Given the description of an element on the screen output the (x, y) to click on. 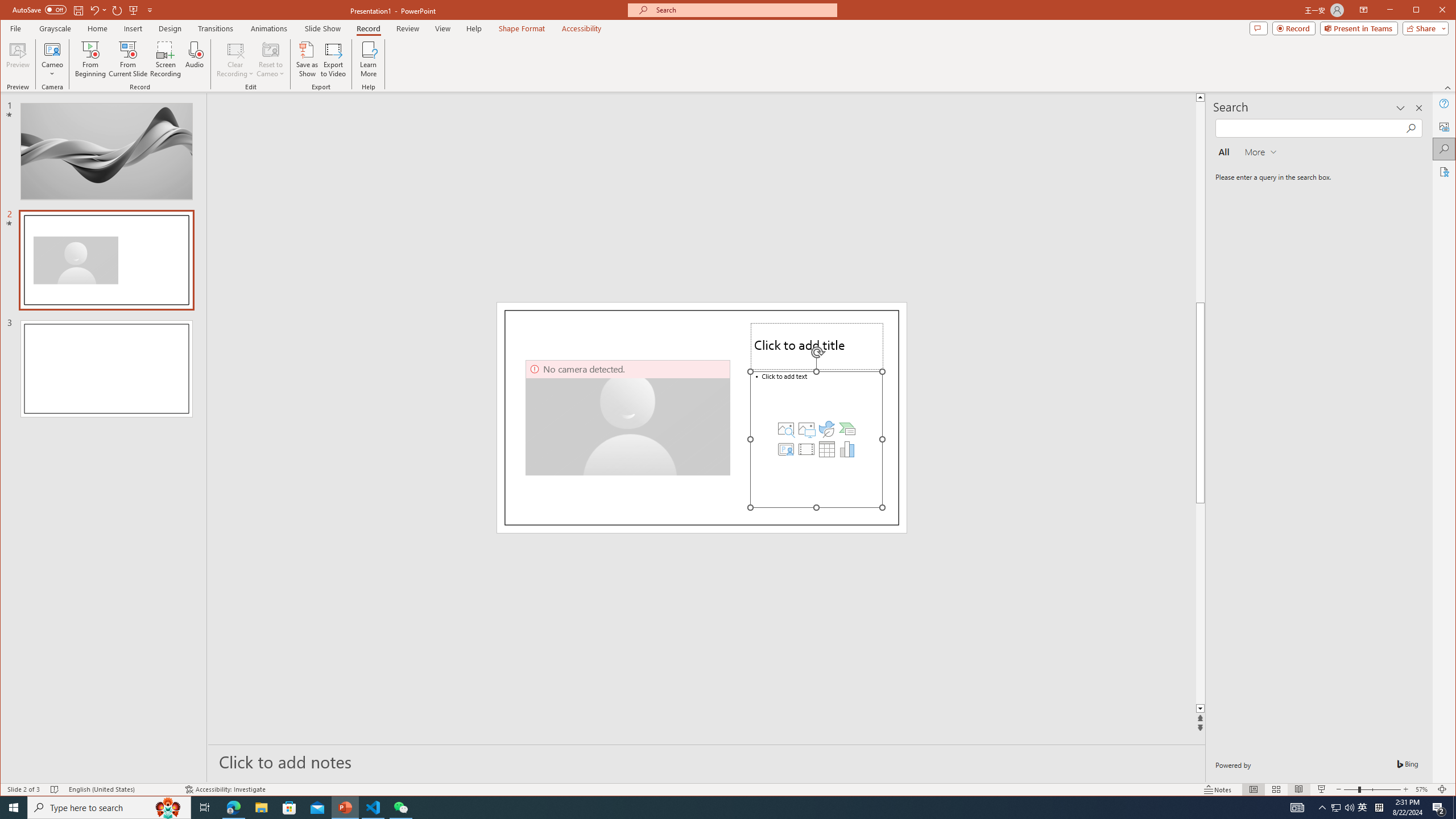
Search highlights icon opens search home window (167, 807)
Zoom 57% (1422, 789)
Page up (1245, 201)
Slide Notes (706, 761)
Camera 4, No camera detected. (627, 417)
Alt Text (1444, 125)
Insert a SmartArt Graphic (847, 428)
